Given the description of an element on the screen output the (x, y) to click on. 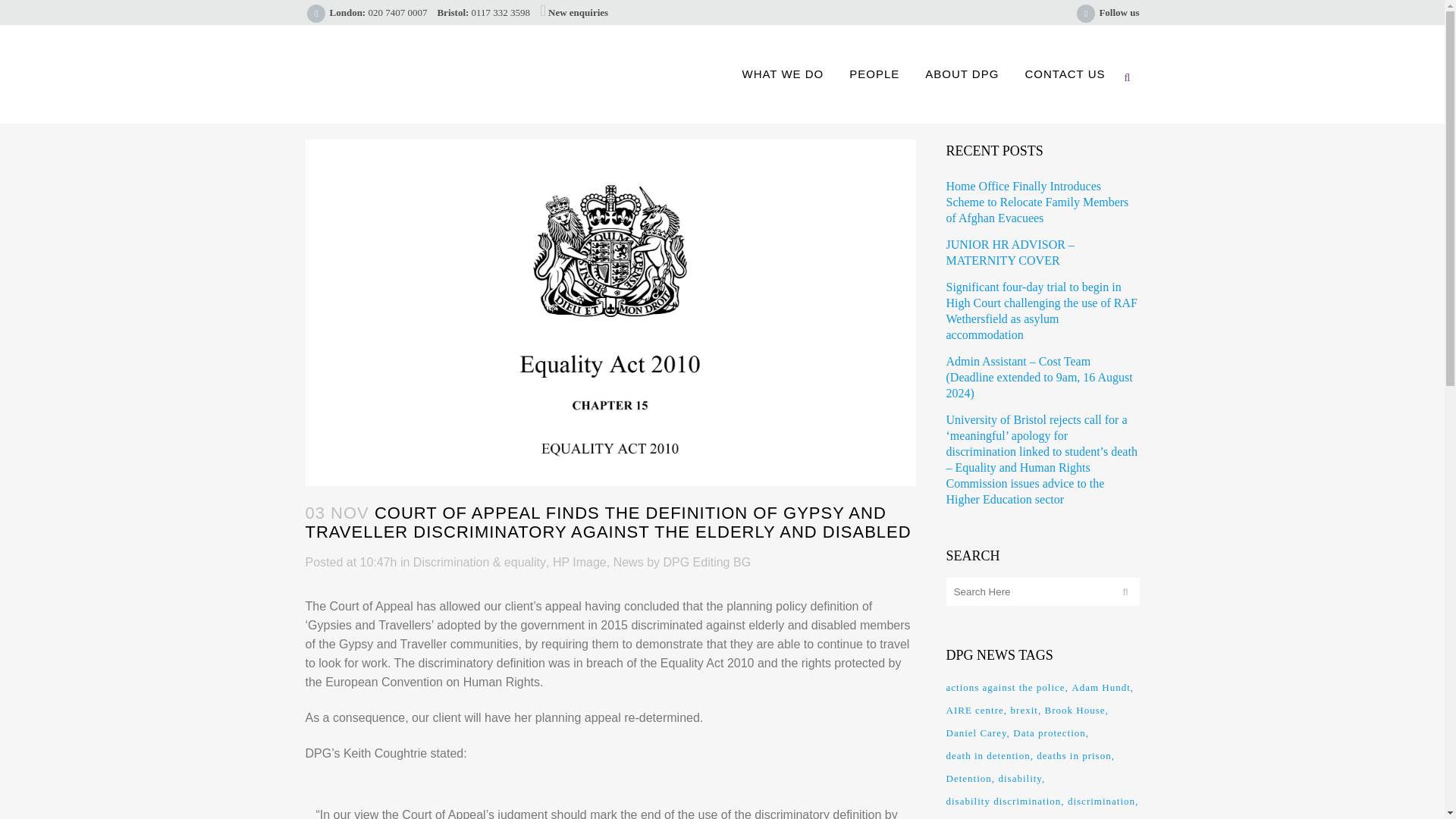
WHAT WE DO (782, 74)
Bristol: 0117 332 3598 (482, 12)
London: 020 7407 0007 (377, 12)
New enquiries (578, 12)
Follow us (1118, 12)
